Given the description of an element on the screen output the (x, y) to click on. 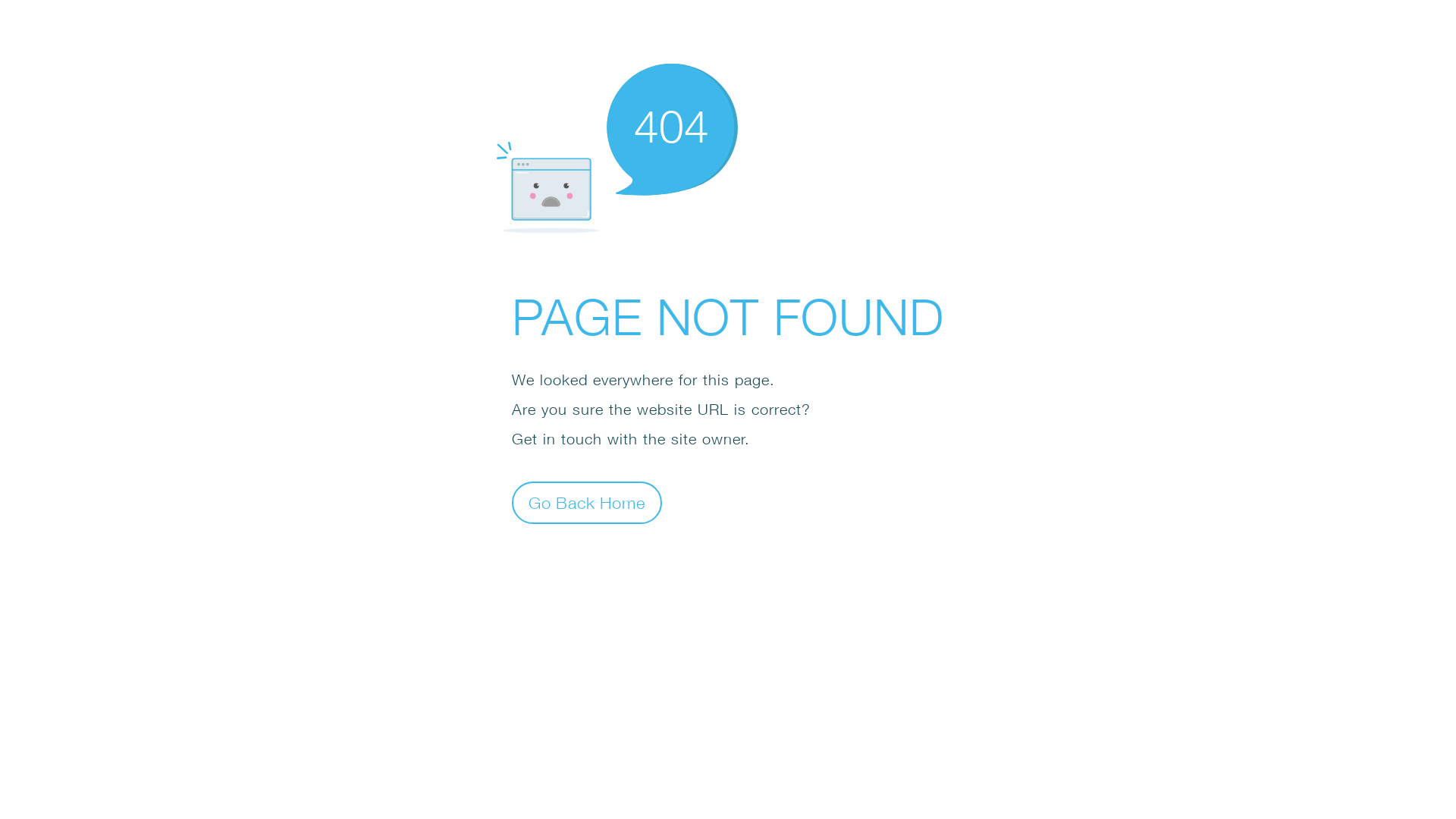
Go Back Home Element type: text (586, 502)
